Given the description of an element on the screen output the (x, y) to click on. 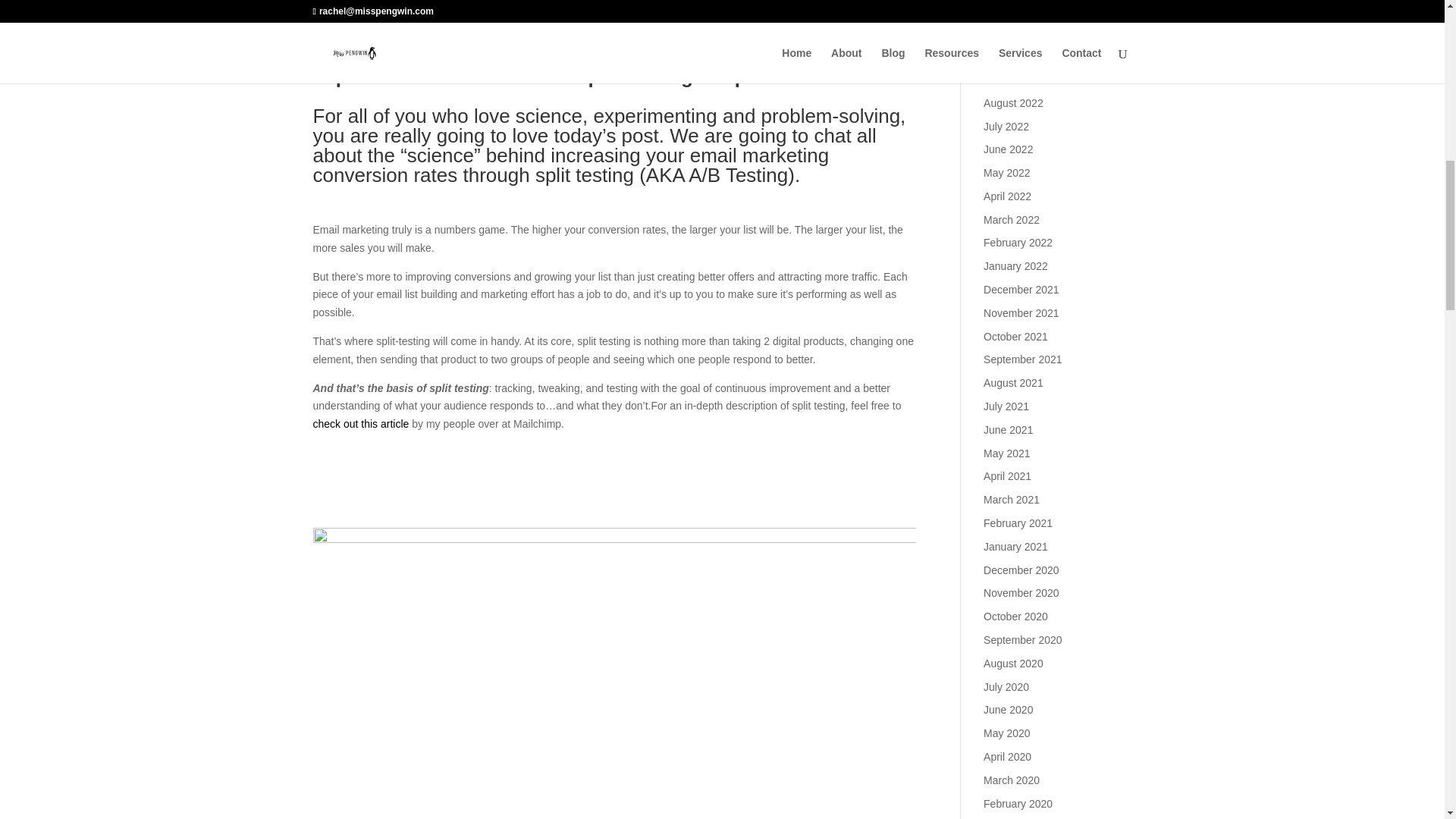
May 2023 (1006, 9)
check out this article (361, 423)
February 2023 (1018, 32)
